Given the description of an element on the screen output the (x, y) to click on. 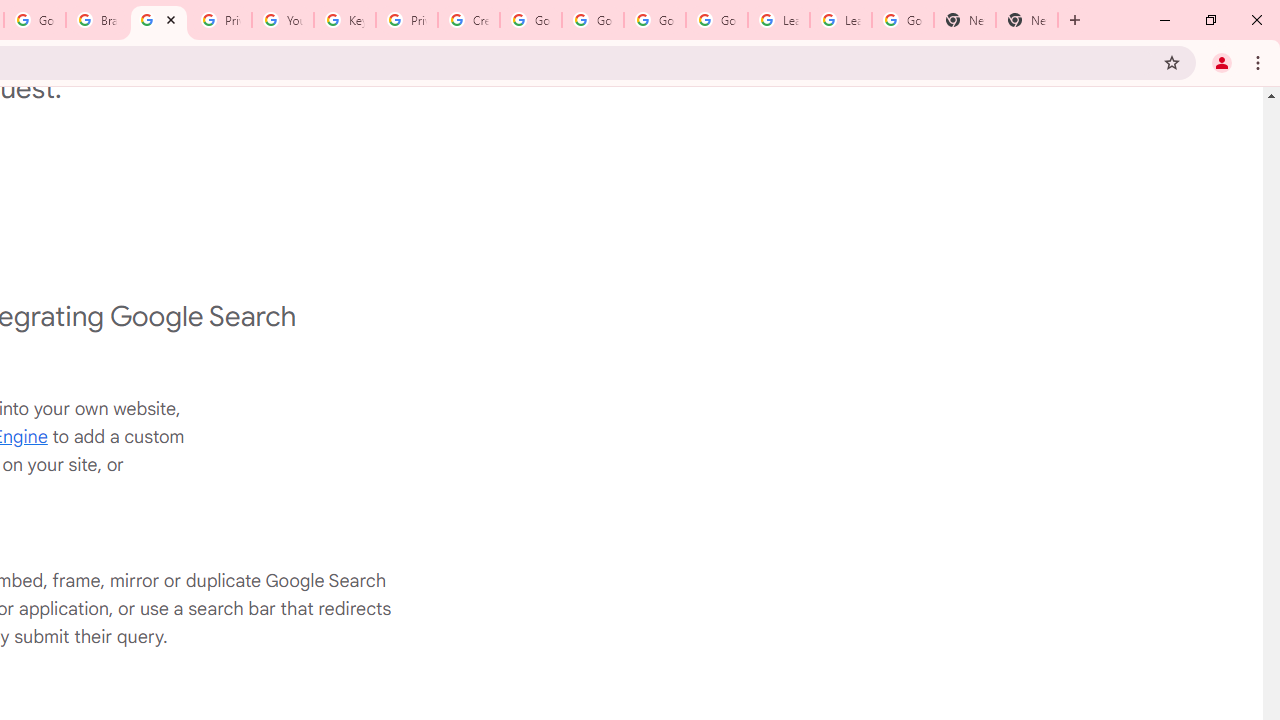
Create your Google Account (468, 20)
YouTube (282, 20)
Google Account Help (592, 20)
